Given the description of an element on the screen output the (x, y) to click on. 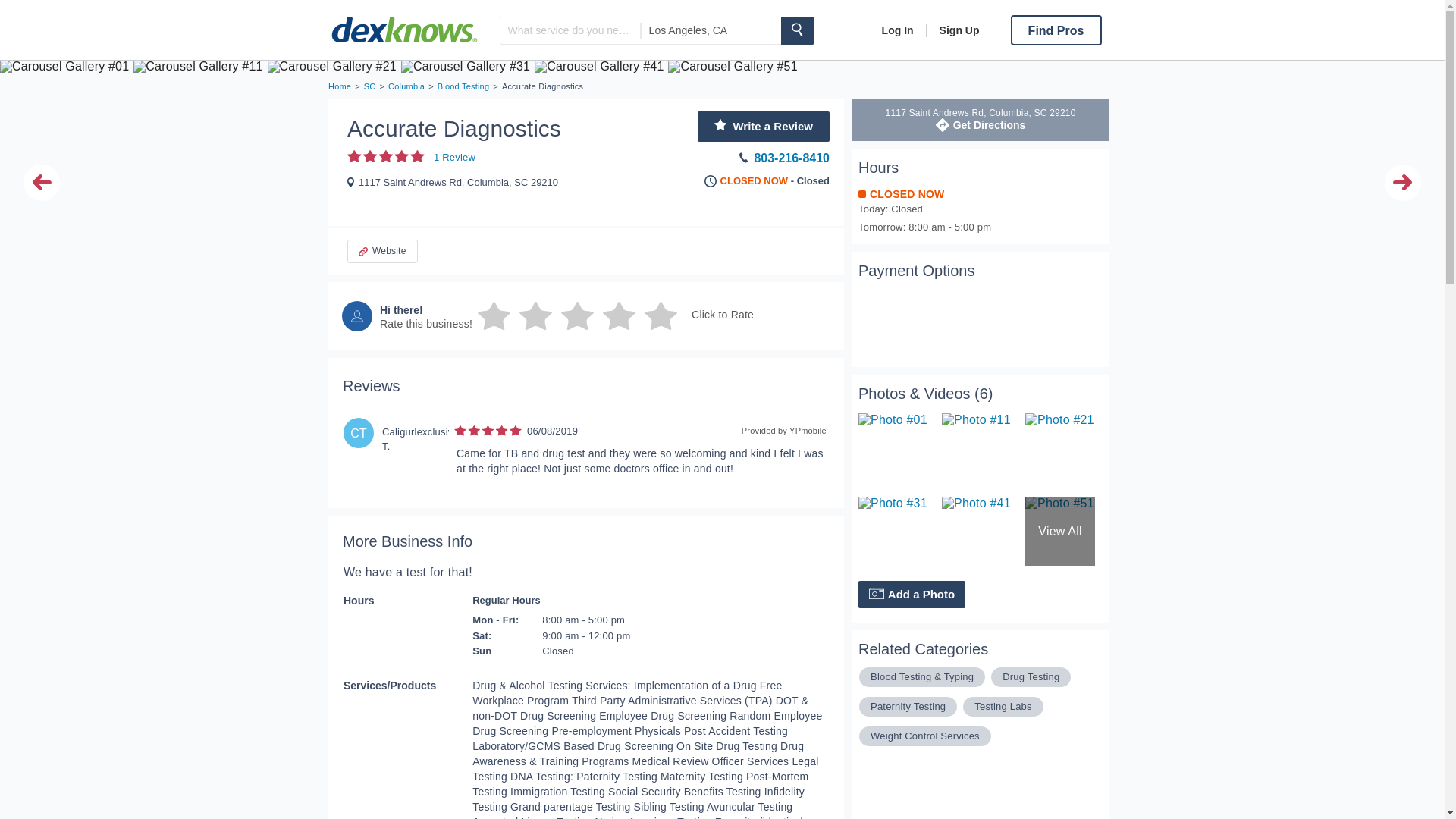
VISA (880, 344)
Blood Testing (980, 119)
Paternity Testing (463, 85)
Write a Review (907, 706)
Columbia (763, 126)
AMEX (406, 85)
CASH (928, 303)
DISCOVER (880, 303)
Find Pros (1026, 303)
Add a Photo (1055, 30)
Find (912, 594)
MASTERCARD (796, 30)
Log In (928, 344)
Drug Testing (898, 30)
